Given the description of an element on the screen output the (x, y) to click on. 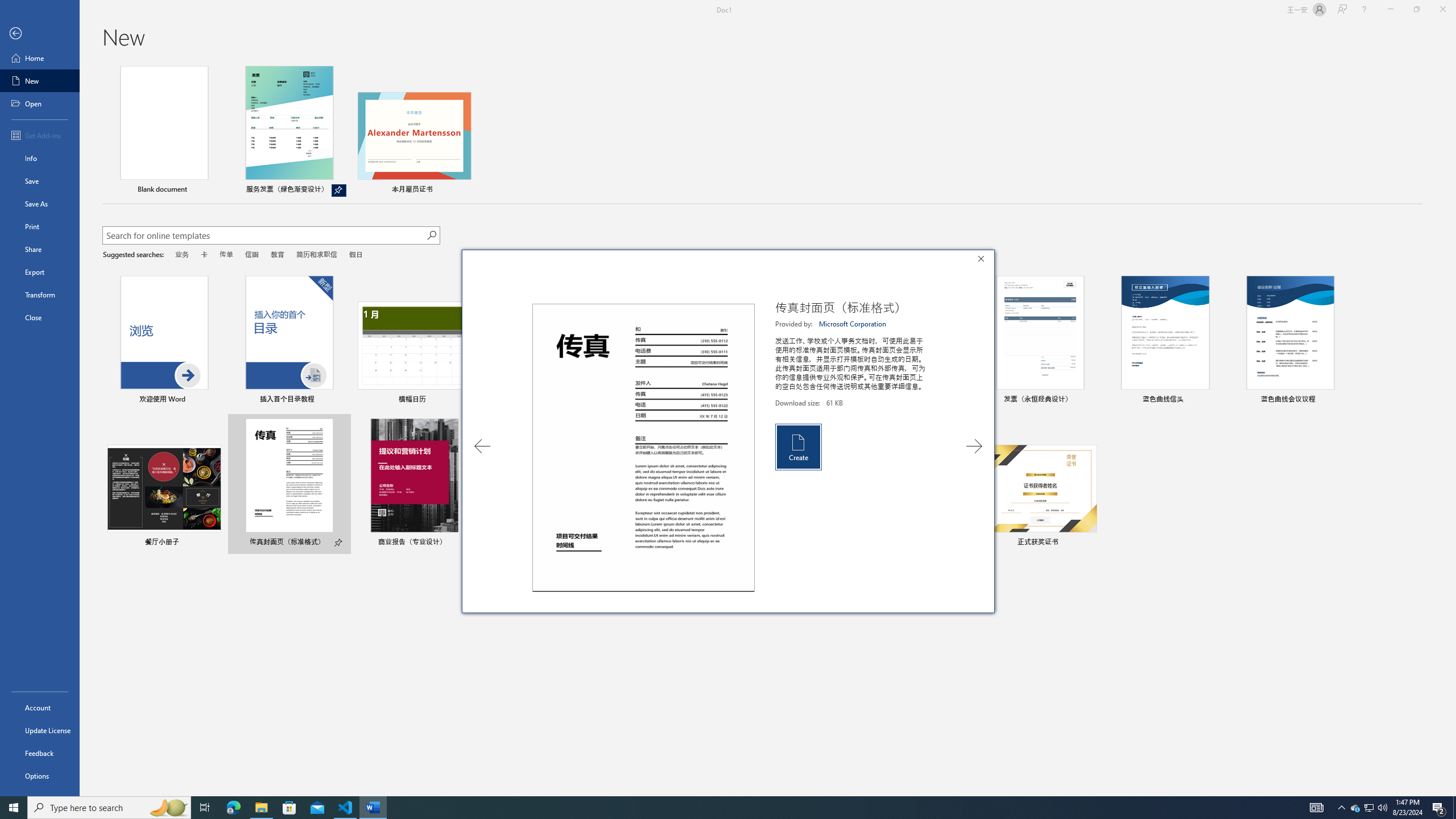
Start searching (431, 235)
Export (40, 271)
New (40, 80)
Pin to list (1089, 543)
Microsoft Corporation (853, 323)
